Given the description of an element on the screen output the (x, y) to click on. 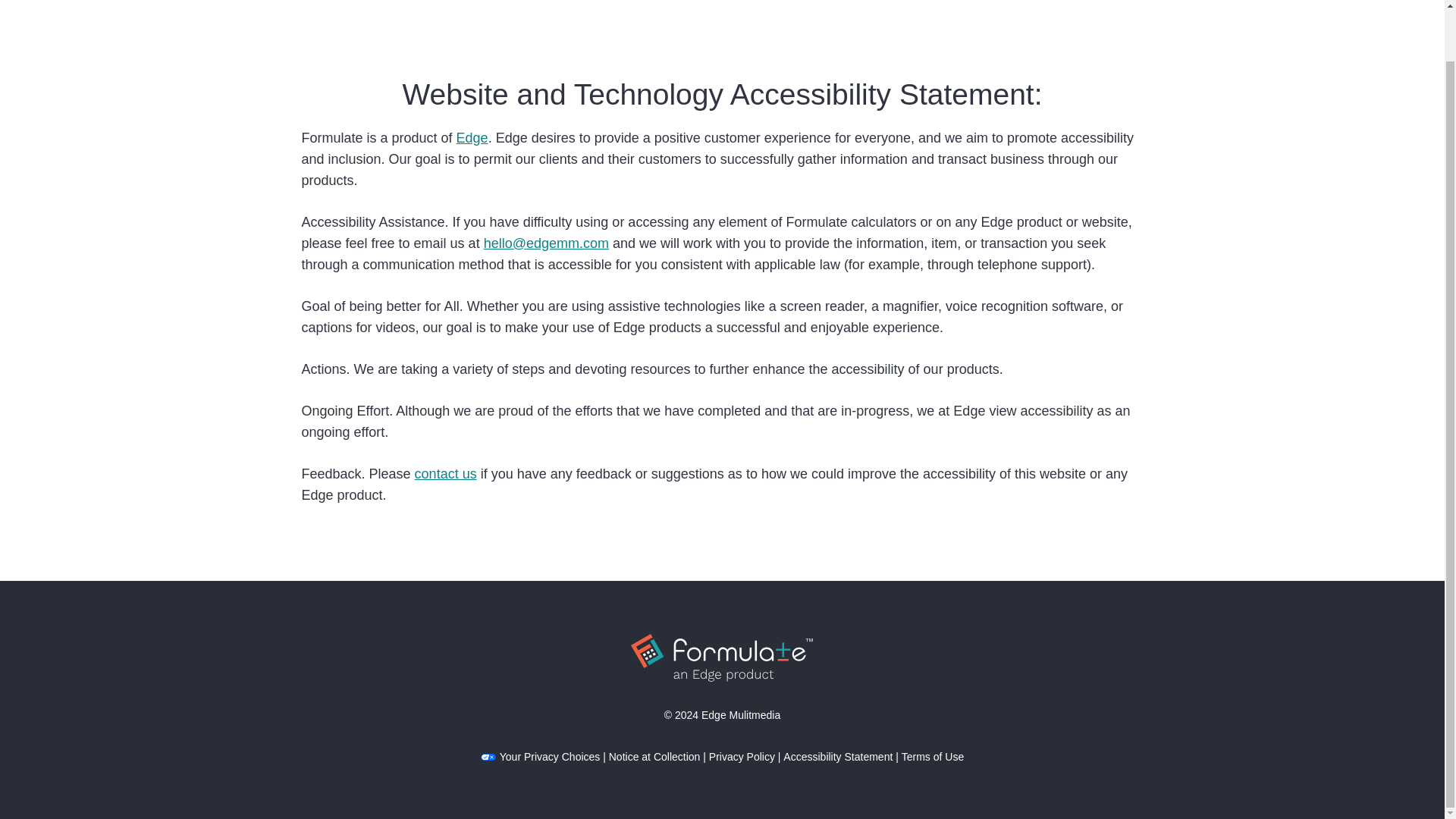
Notice at Collection (654, 756)
Edge (472, 137)
contact us (445, 473)
Accessibility Statement (837, 756)
Terms of Use (932, 756)
Formulate Calculator Home (392, 2)
Your Privacy Choices (539, 756)
Privacy Policy (741, 756)
Edge Mulitmedia (740, 715)
